Given the description of an element on the screen output the (x, y) to click on. 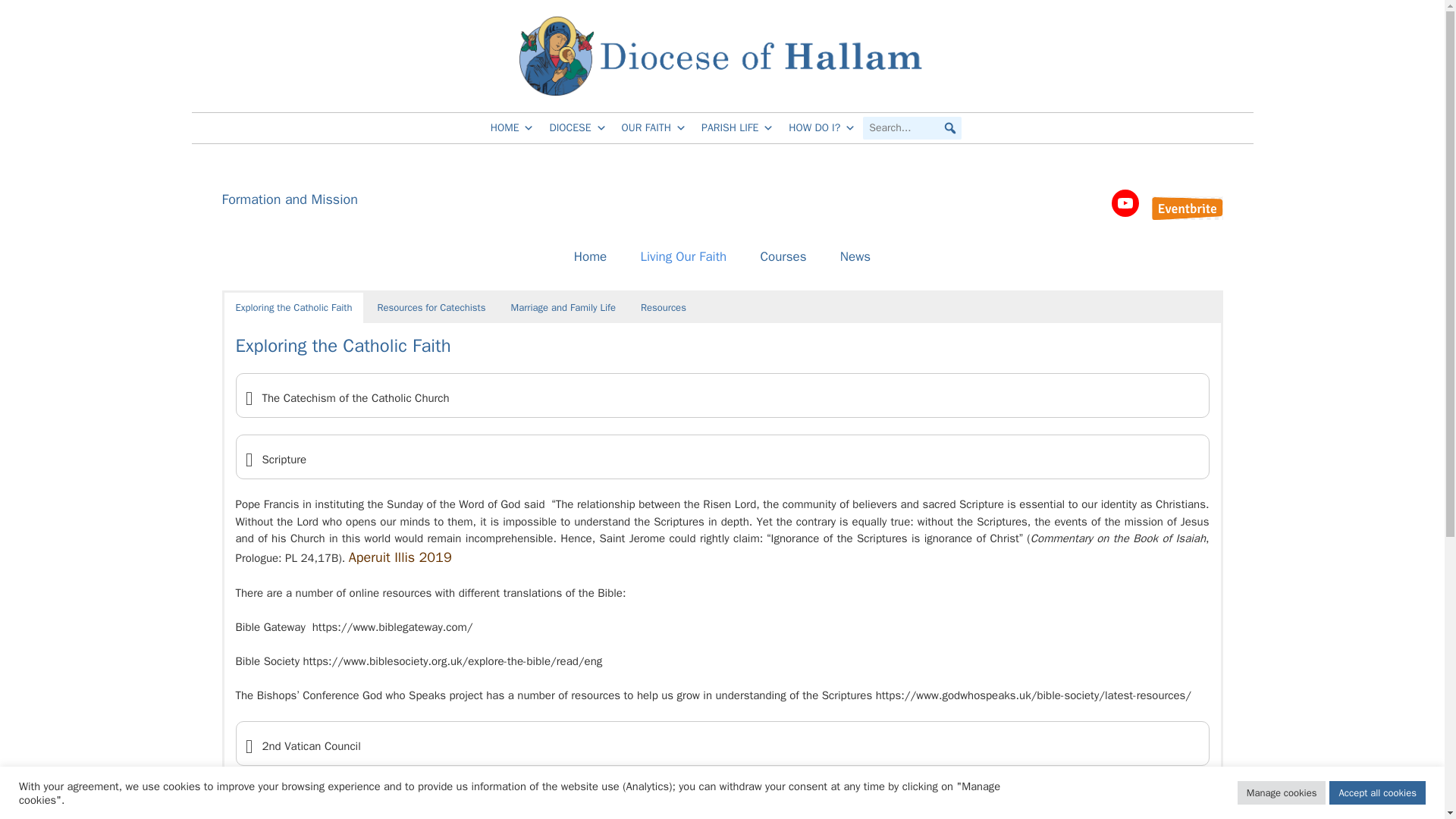
DIOCESE (576, 128)
HOME (512, 128)
